Given the description of an element on the screen output the (x, y) to click on. 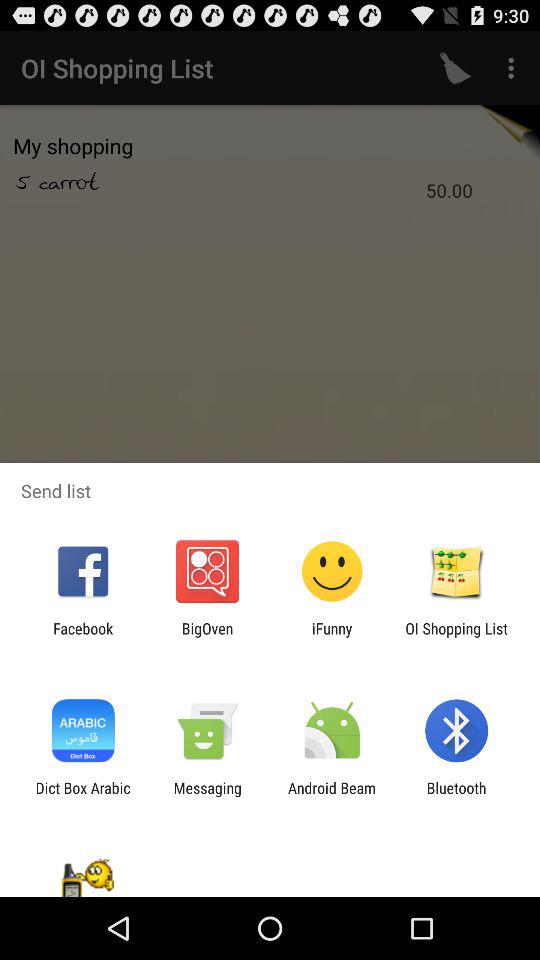
select app next to facebook (207, 637)
